Given the description of an element on the screen output the (x, y) to click on. 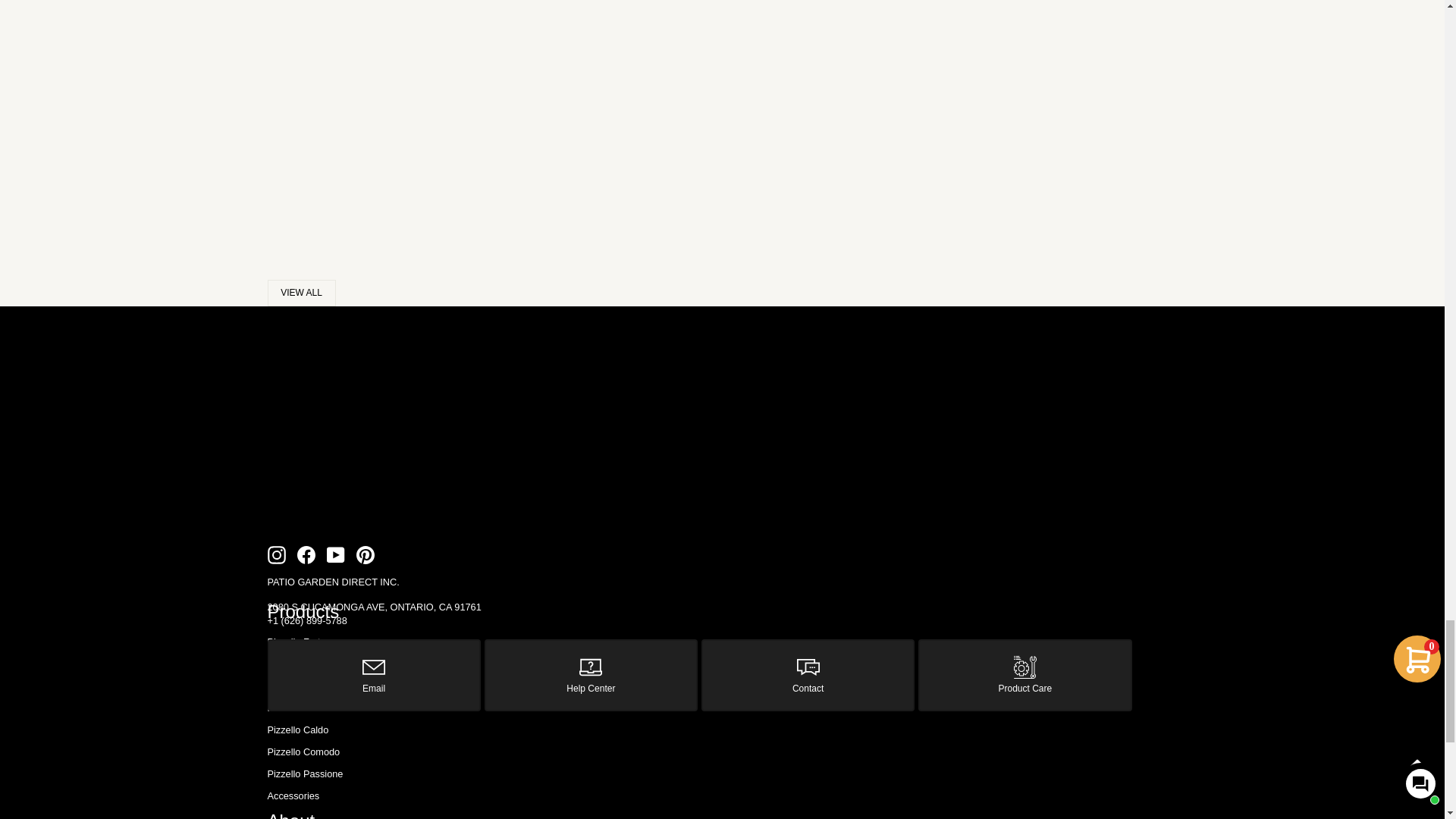
Pizzello on Instagram (275, 555)
Pizzello on Facebook (306, 555)
Pizzello on Pinterest (365, 555)
Pizzello on YouTube (334, 555)
